Given the description of an element on the screen output the (x, y) to click on. 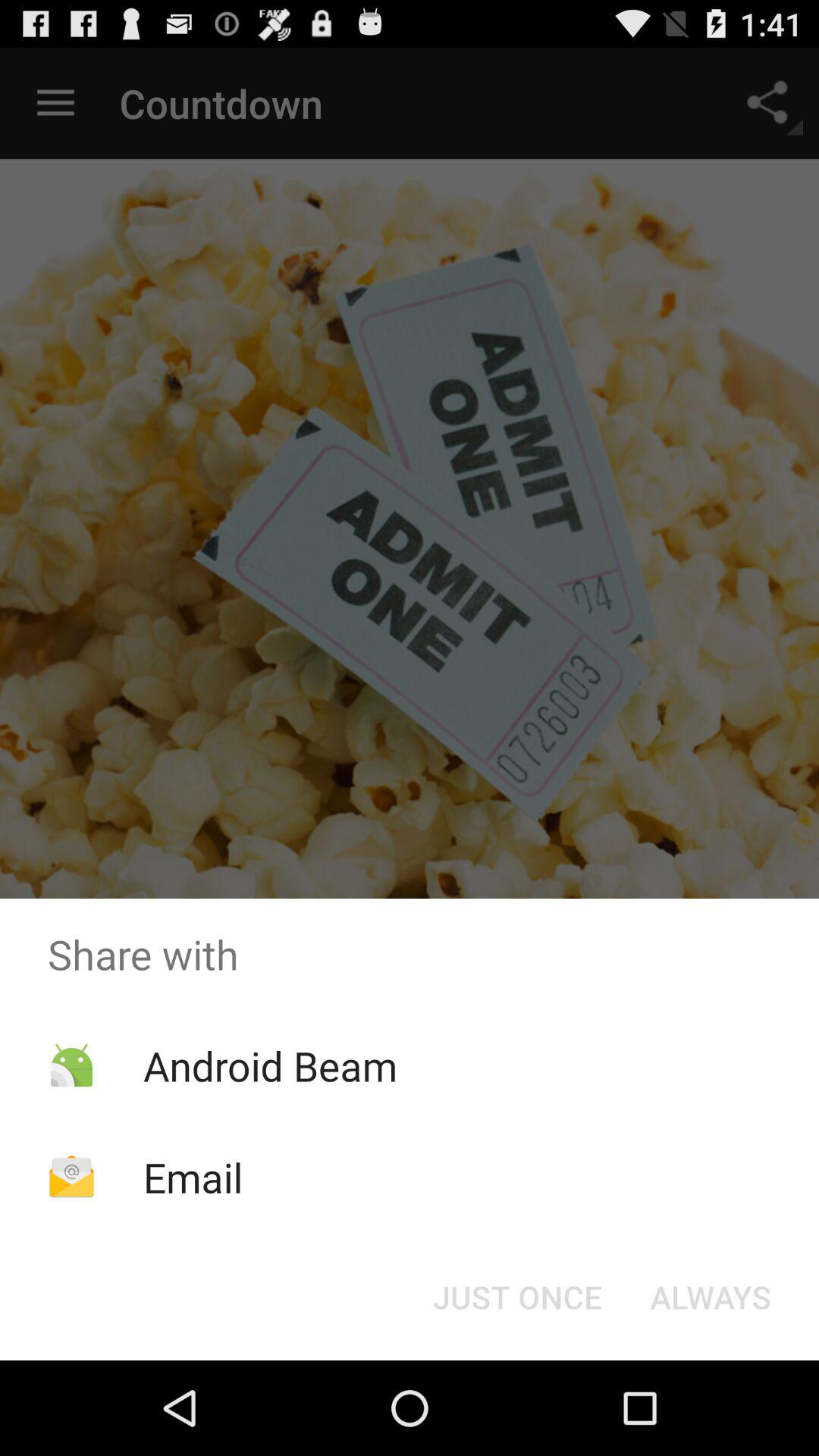
click always icon (710, 1296)
